Given the description of an element on the screen output the (x, y) to click on. 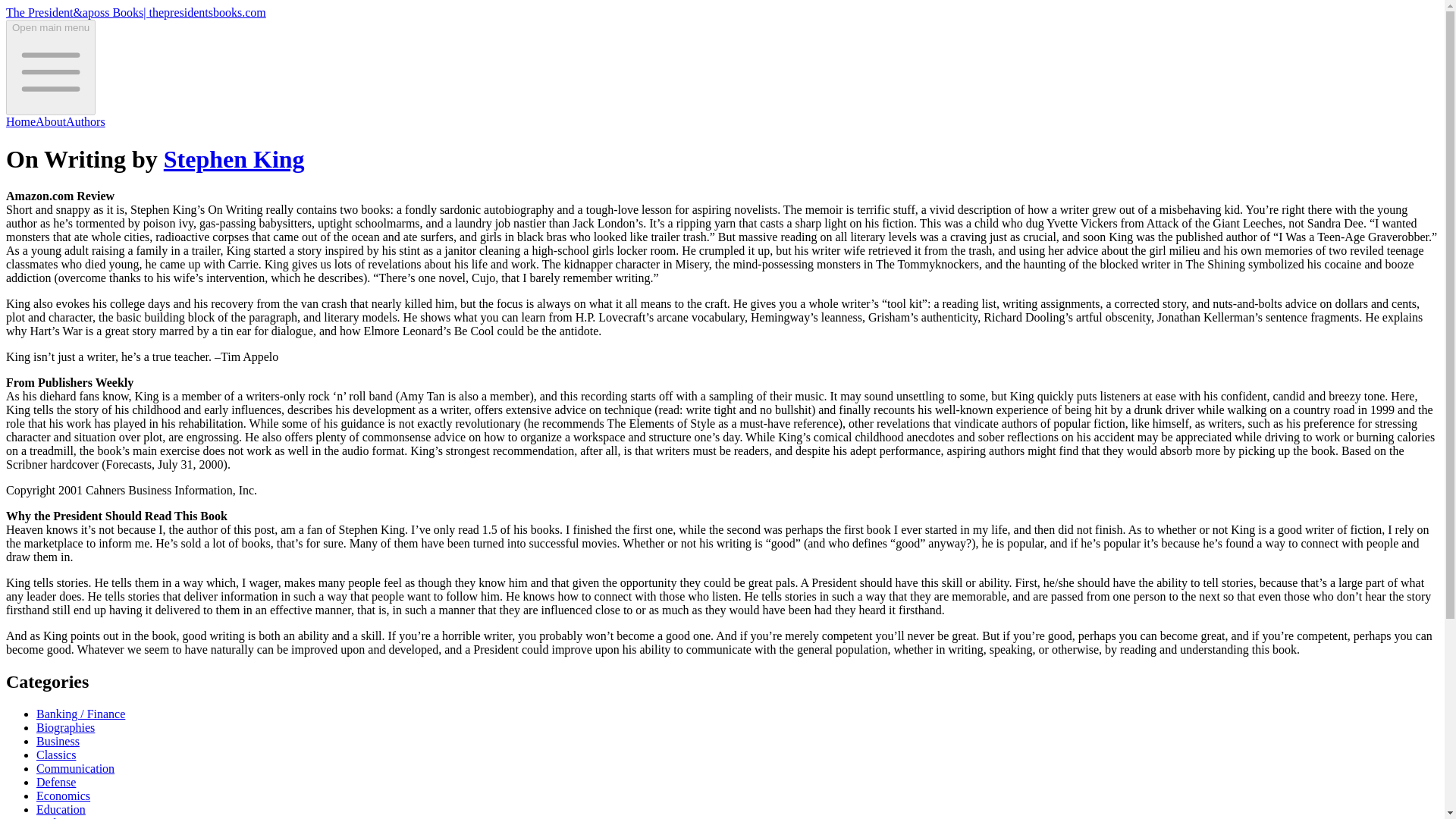
Home (19, 121)
Defense (55, 781)
Classics (55, 754)
About (49, 121)
Evil (46, 817)
Biographies (65, 727)
Open main menu (50, 67)
Communication (75, 768)
Economics (63, 795)
Business (58, 740)
Stephen King (233, 158)
Authors (84, 121)
Education (60, 809)
